Given the description of an element on the screen output the (x, y) to click on. 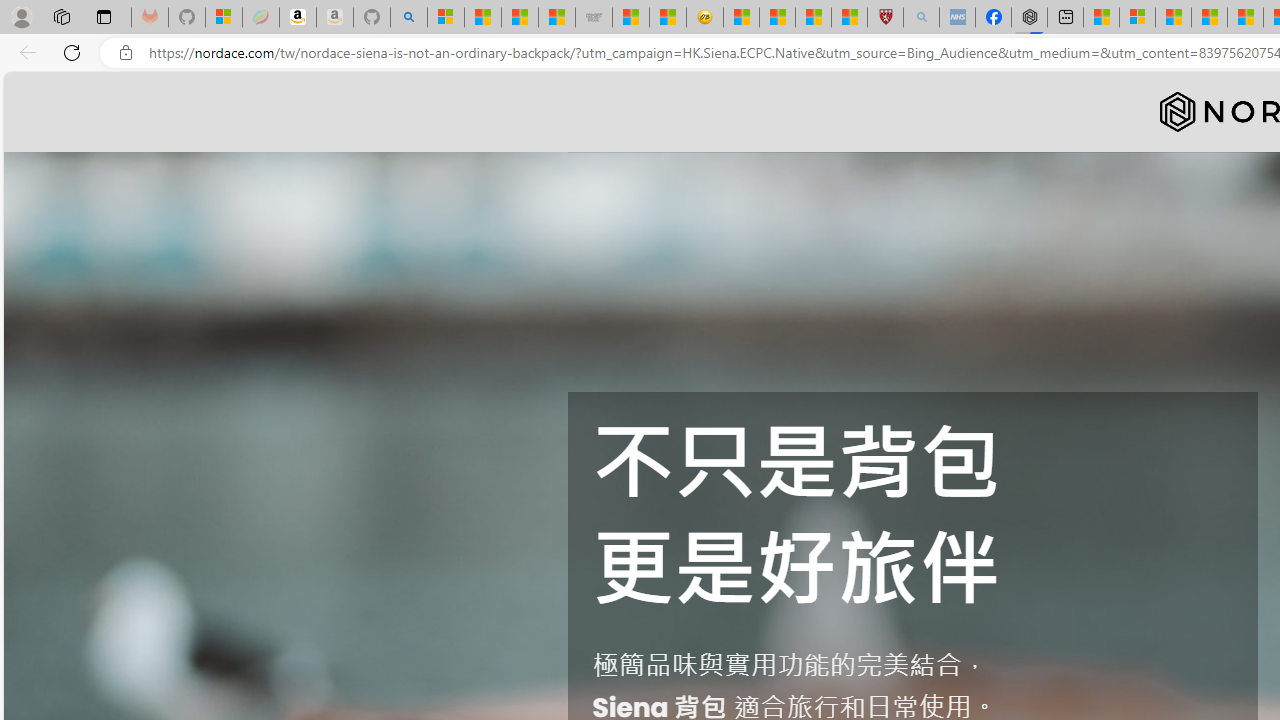
Robert H. Shmerling, MD - Harvard Health (884, 17)
12 Popular Science Lies that Must be Corrected (849, 17)
